Given the description of an element on the screen output the (x, y) to click on. 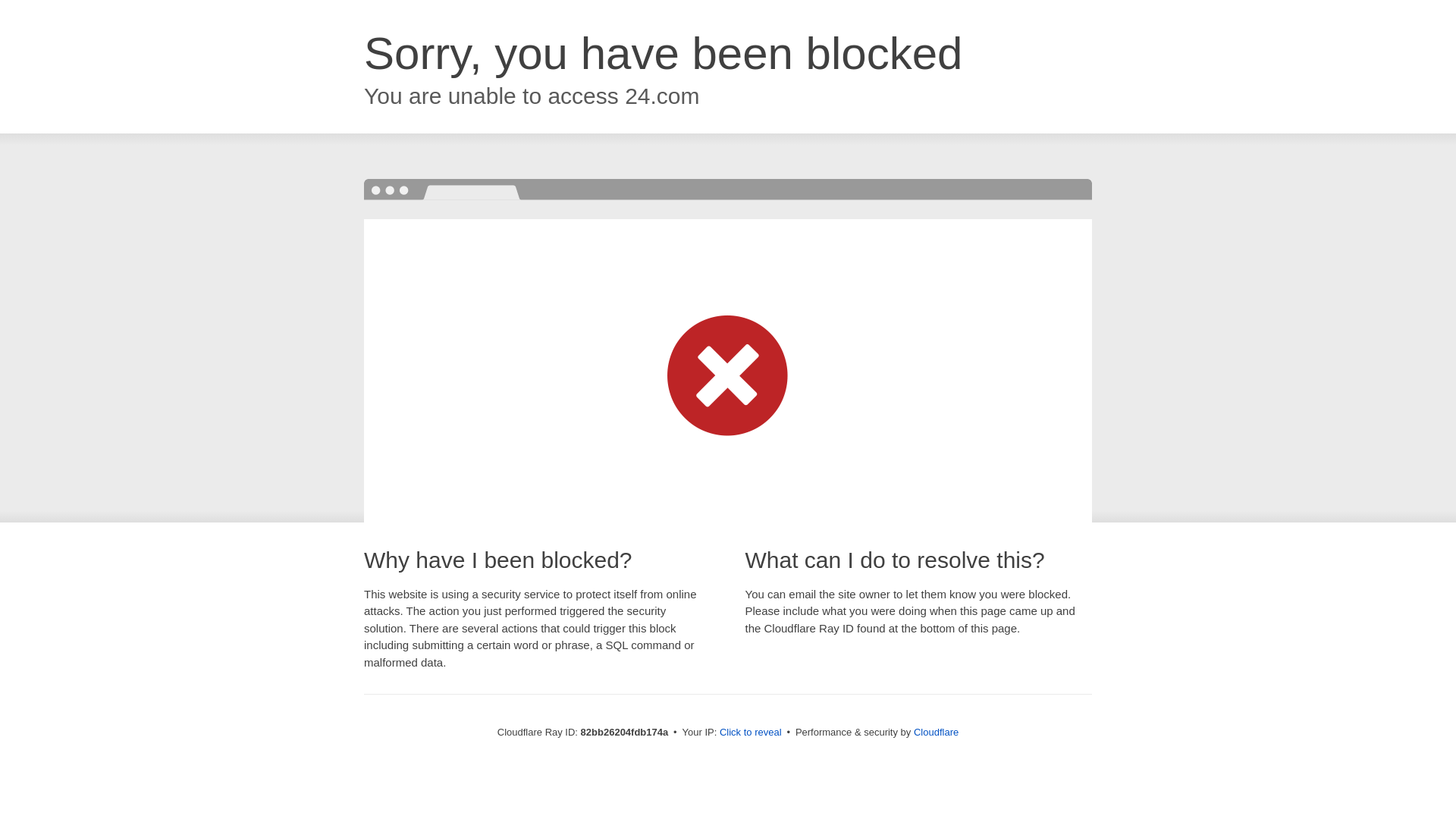
Cloudflare Element type: text (935, 731)
Click to reveal Element type: text (750, 732)
